Given the description of an element on the screen output the (x, y) to click on. 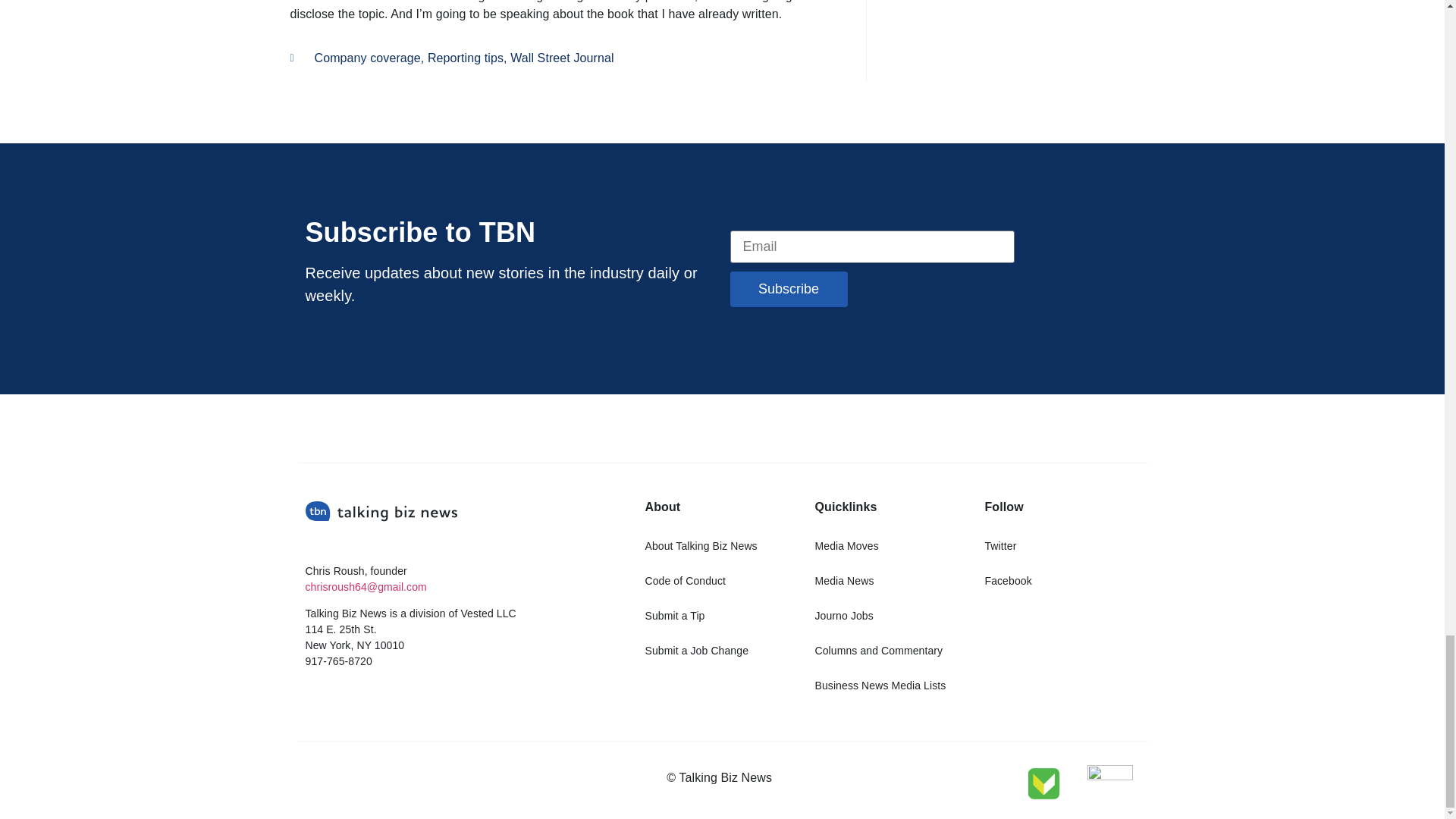
Company coverage (367, 57)
Wall Street Journal (561, 57)
Reporting tips (465, 57)
